Given the description of an element on the screen output the (x, y) to click on. 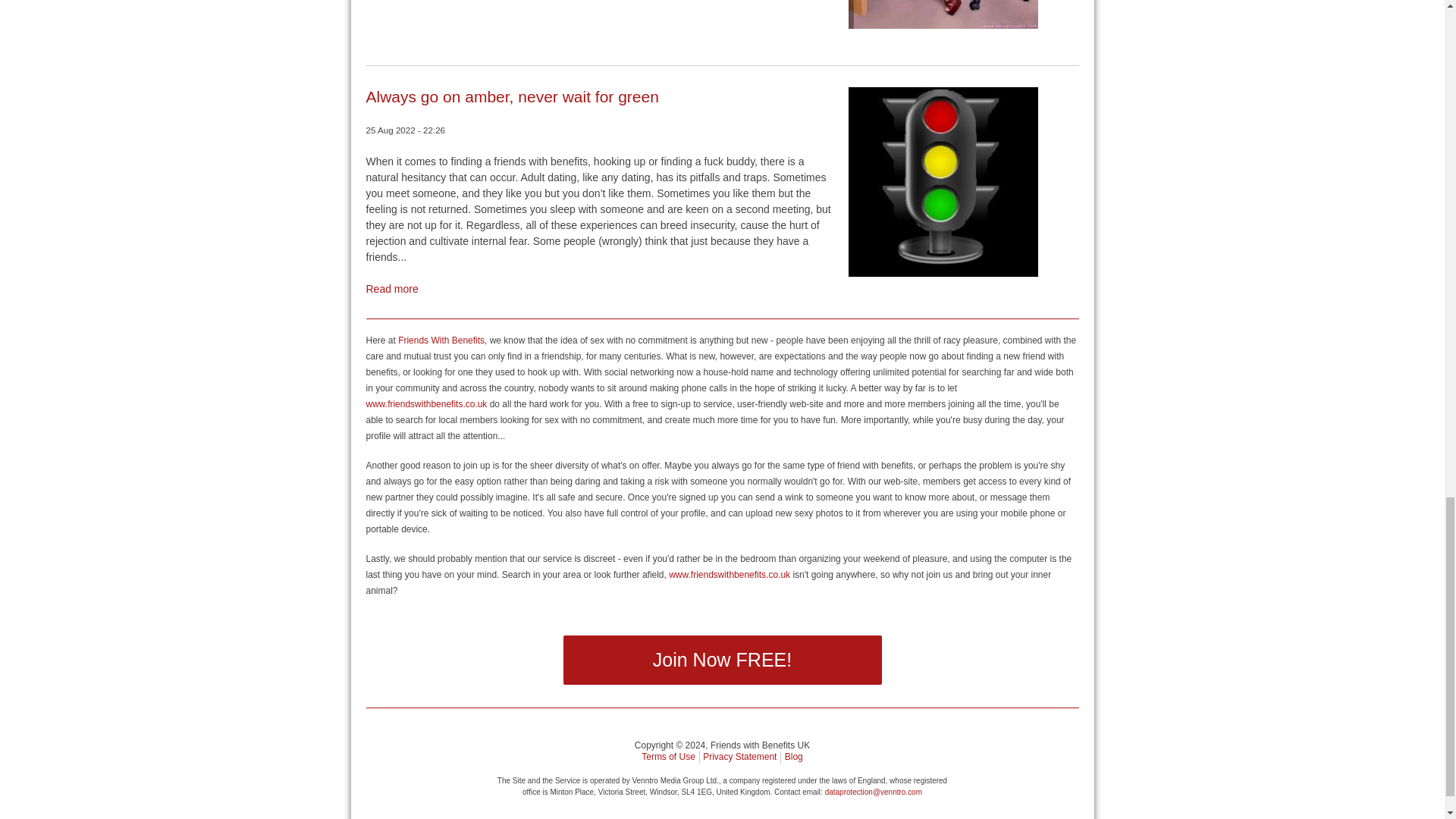
Blog (793, 756)
Join Now FREE! (721, 659)
Friends With Benefits (440, 339)
www.friendswithbenefits.co.uk (729, 574)
Read more (391, 288)
Always go on amber, never wait for green (511, 96)
Privacy Statement (739, 756)
Terms of Use (668, 756)
www.friendswithbenefits.co.uk (425, 403)
